Given the description of an element on the screen output the (x, y) to click on. 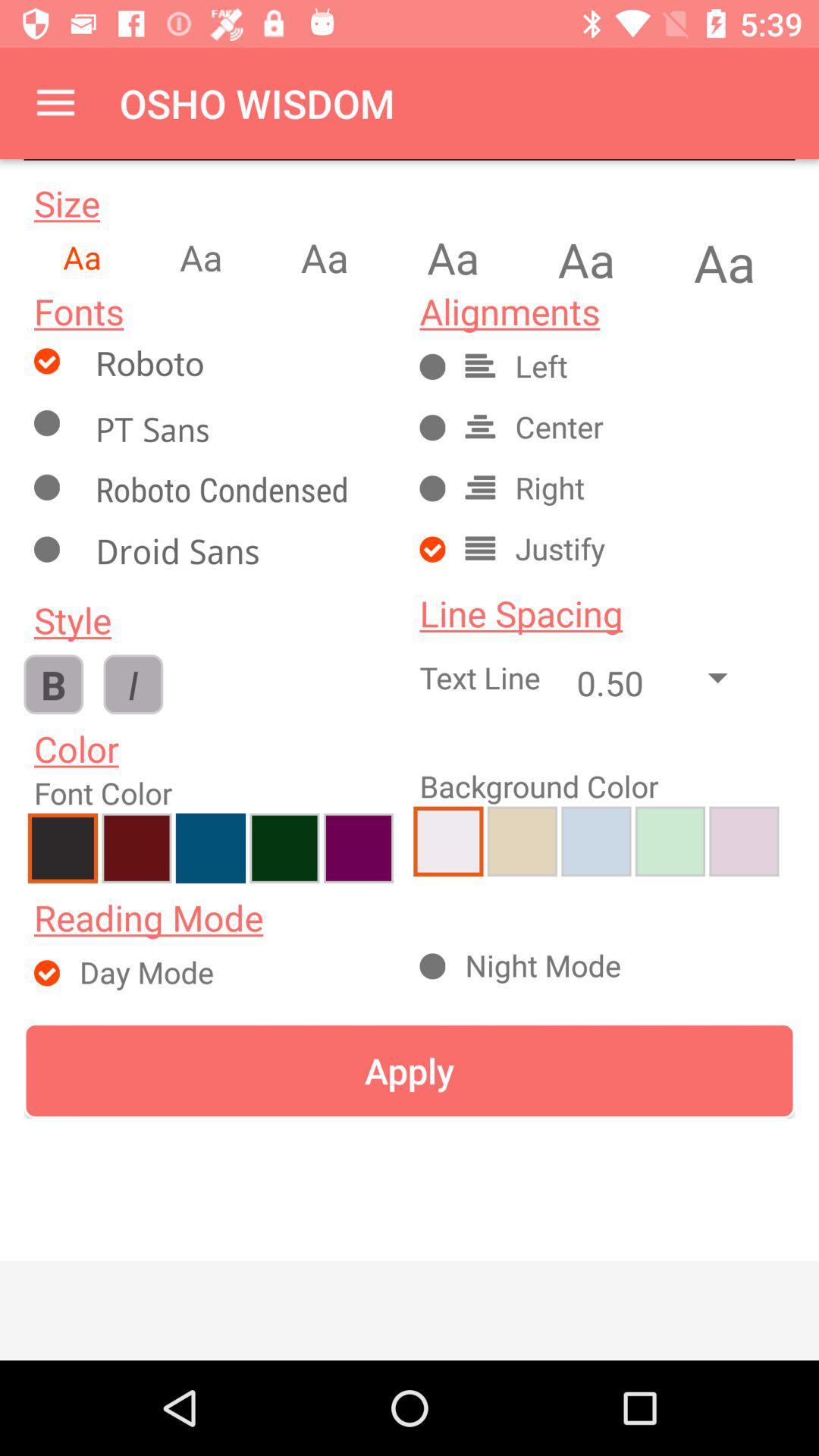
select background color (596, 841)
